Given the description of an element on the screen output the (x, y) to click on. 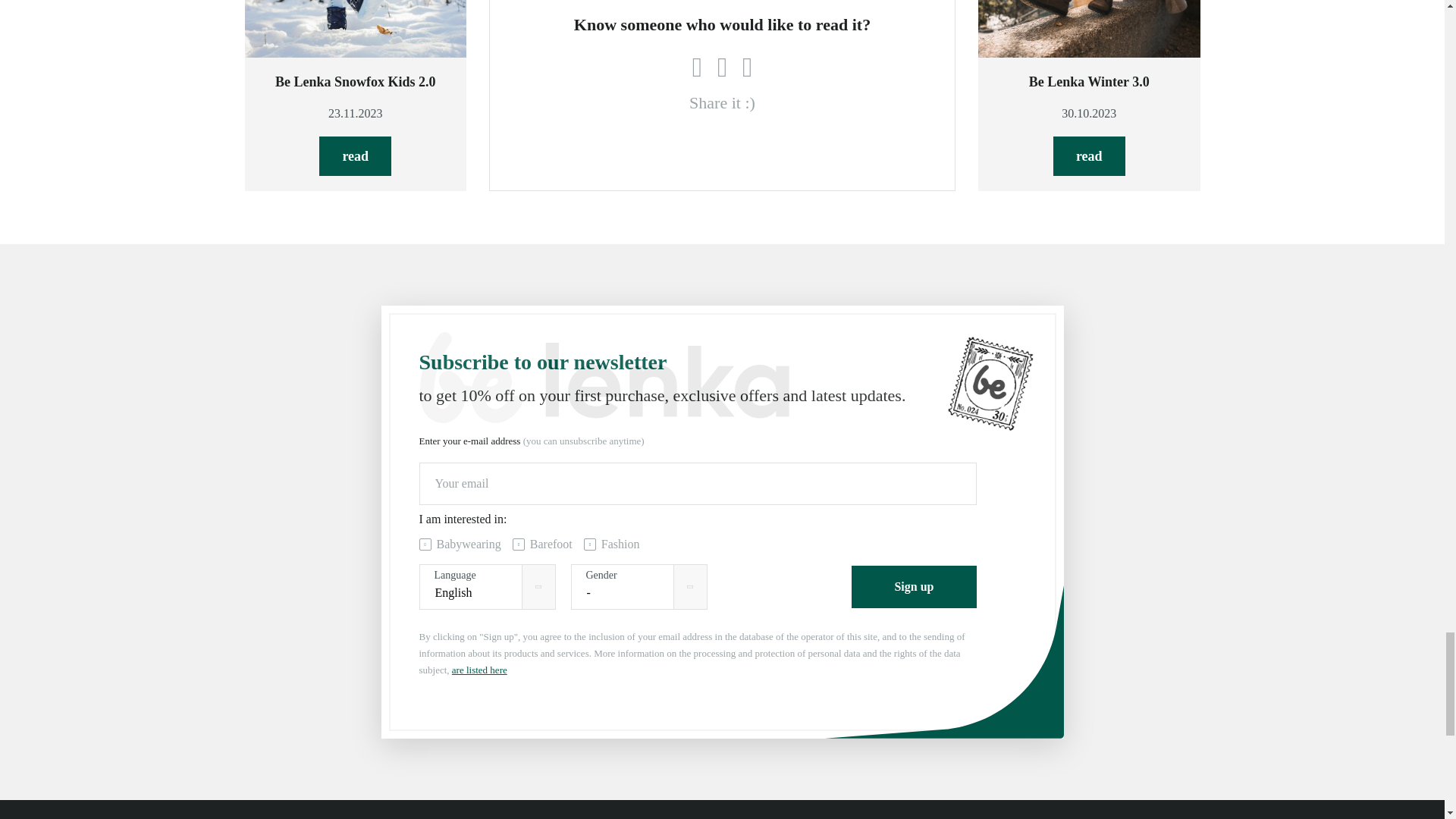
Sign up (913, 586)
